Given the description of an element on the screen output the (x, y) to click on. 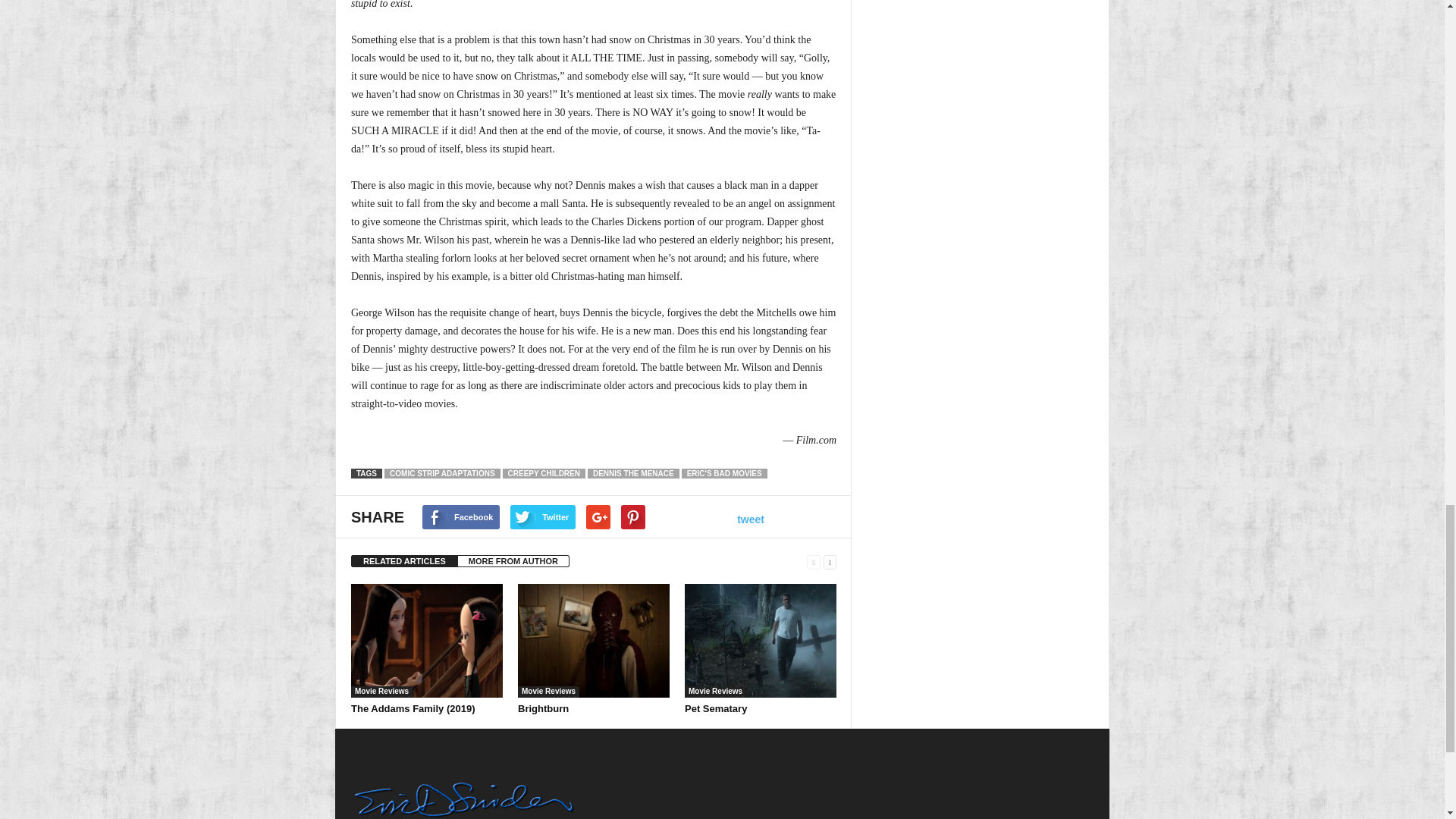
Pet Sematary (715, 708)
Brightburn (543, 708)
Pet Sematary (759, 640)
Brightburn (593, 640)
